Given the description of an element on the screen output the (x, y) to click on. 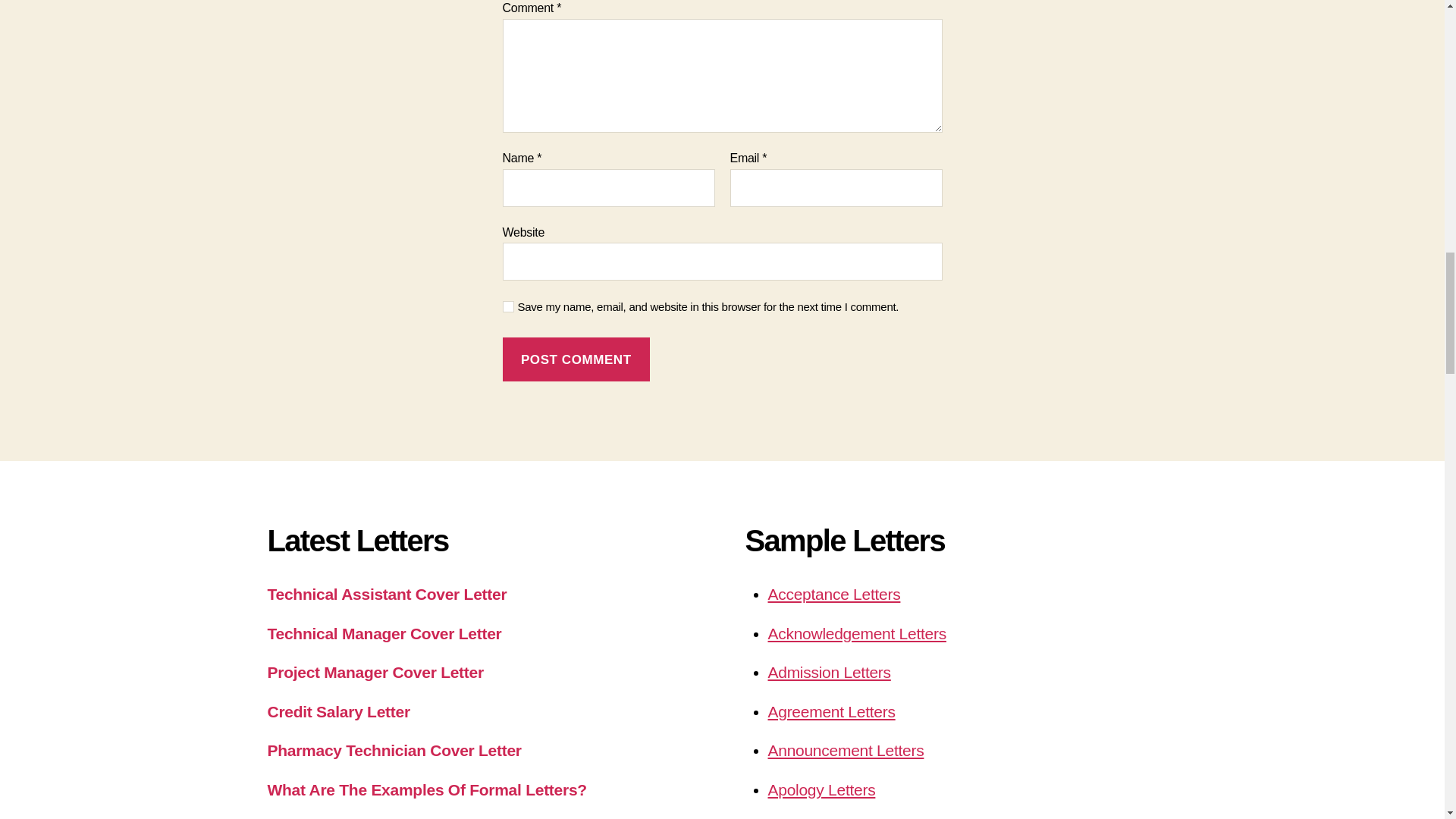
Technical Assistant Cover Letter (386, 593)
Pharmacy Technician Cover Letter (393, 750)
Post Comment (575, 359)
Post Comment (575, 359)
Credit Salary Letter (337, 711)
What Are The Examples Of Formal Letters? (426, 789)
Acceptance Letters (833, 593)
yes (507, 306)
Apology Letters (821, 789)
Agreement Letters (831, 711)
